Given the description of an element on the screen output the (x, y) to click on. 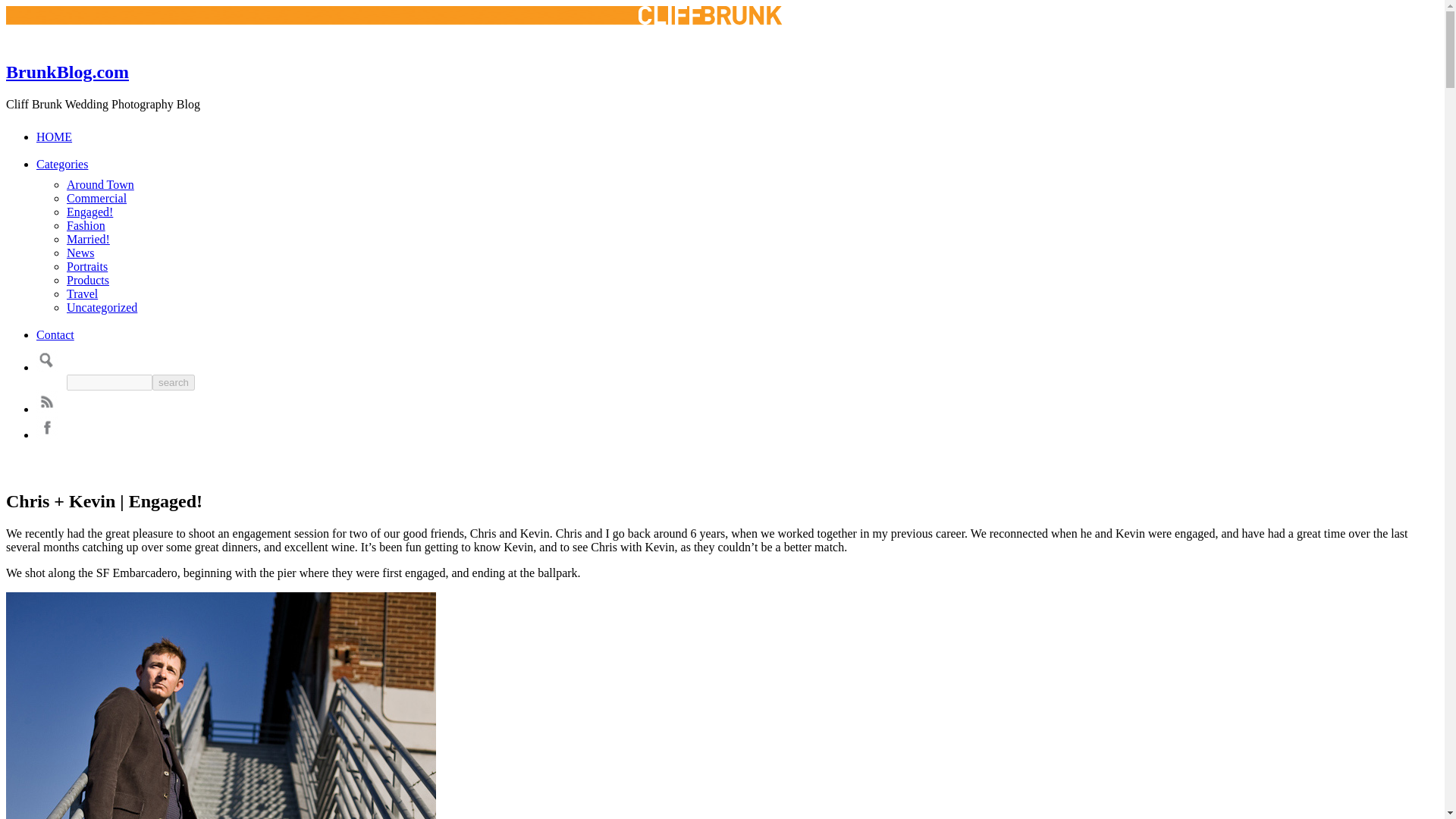
HOME (53, 136)
Contact (55, 334)
search (173, 382)
News (80, 252)
Uncategorized (101, 307)
Products (87, 279)
Commercial (96, 197)
BrunkBlog.com (67, 71)
search (173, 382)
Around Town (99, 184)
Married! (88, 238)
BrunkBlog.com (67, 71)
Portraits (86, 266)
Engaged! (89, 211)
Travel (81, 293)
